Given the description of an element on the screen output the (x, y) to click on. 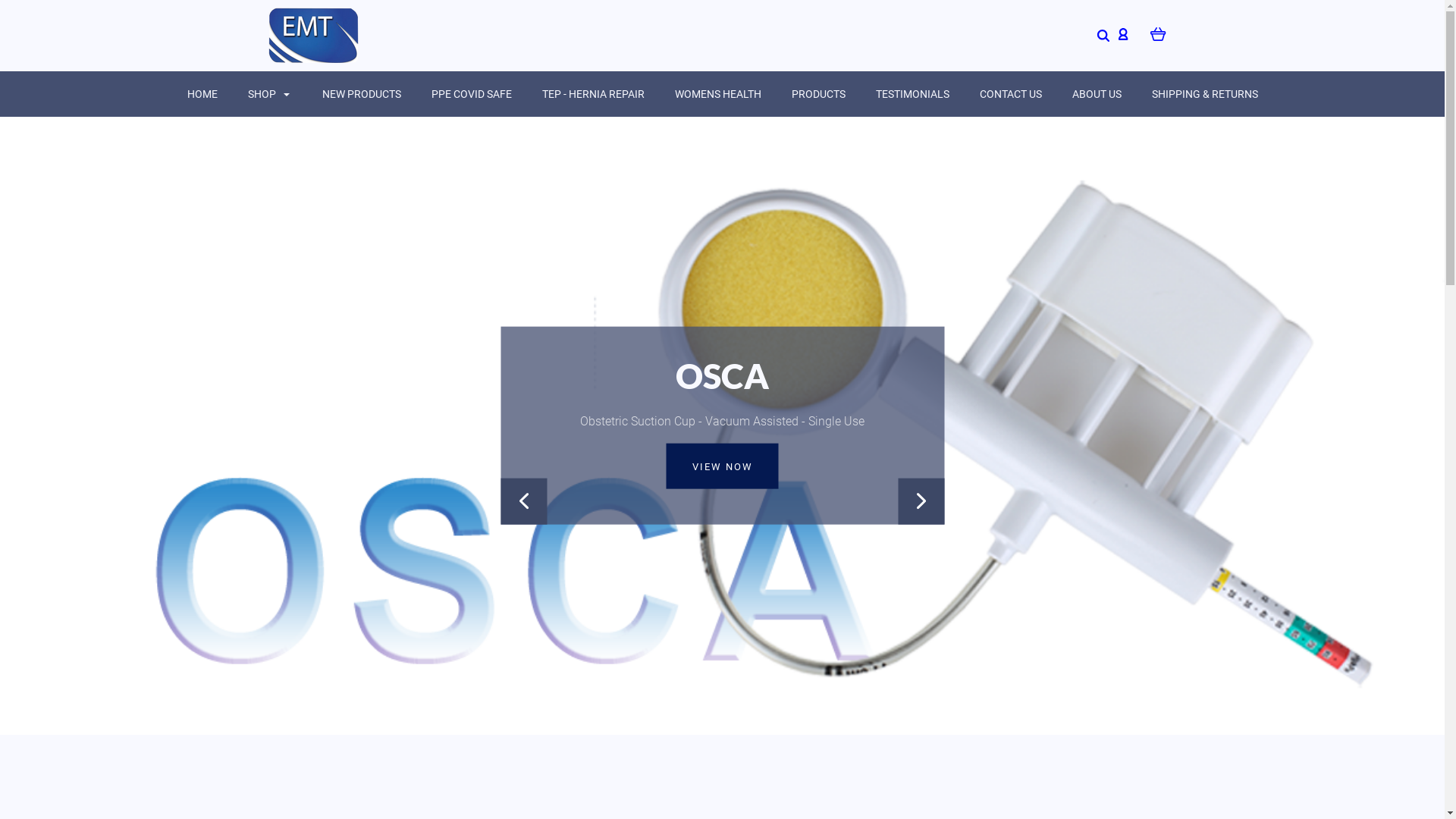
PPE COVID SAFE Element type: text (470, 94)
SHIPPING & RETURNS Element type: text (1203, 94)
SHOP Element type: text (268, 94)
PRODUCTS Element type: text (818, 94)
CONTACT US Element type: text (1010, 94)
TEP - HERNIA REPAIR Element type: text (592, 94)
ABOUT US Element type: text (1096, 94)
VIEW NOW Element type: text (721, 466)
TESTIMONIALS Element type: text (911, 94)
NEW PRODUCTS Element type: text (360, 94)
0 Element type: text (1157, 33)
WOMENS HEALTH Element type: text (718, 94)
HOME Element type: text (201, 94)
